Given the description of an element on the screen output the (x, y) to click on. 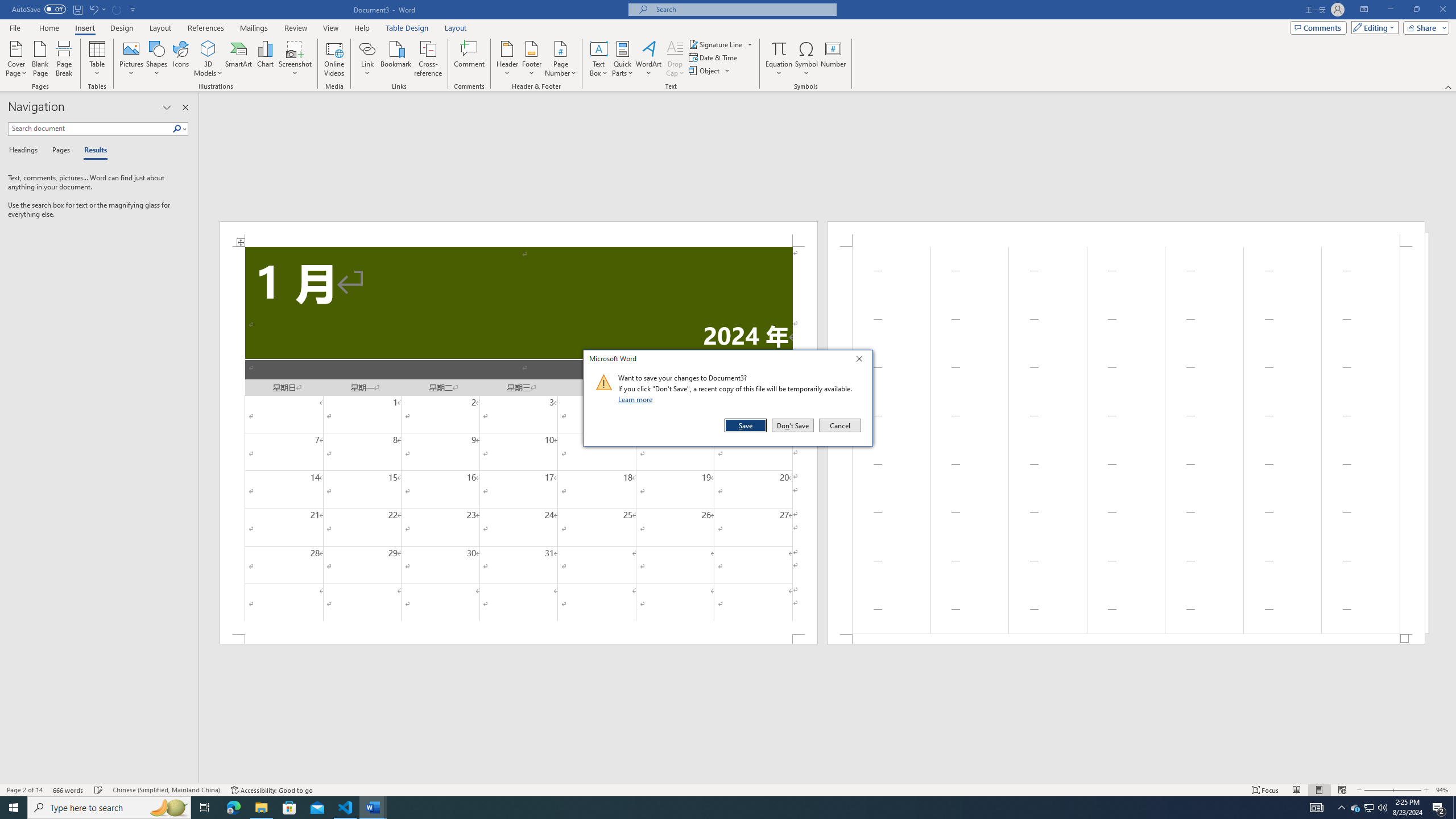
Page Number Page 2 of 14 (24, 790)
Screenshot (295, 58)
Chart... (265, 58)
Date & Time... (714, 56)
Signature Line (721, 44)
Running applications (717, 807)
Can't Repeat (117, 9)
